Given the description of an element on the screen output the (x, y) to click on. 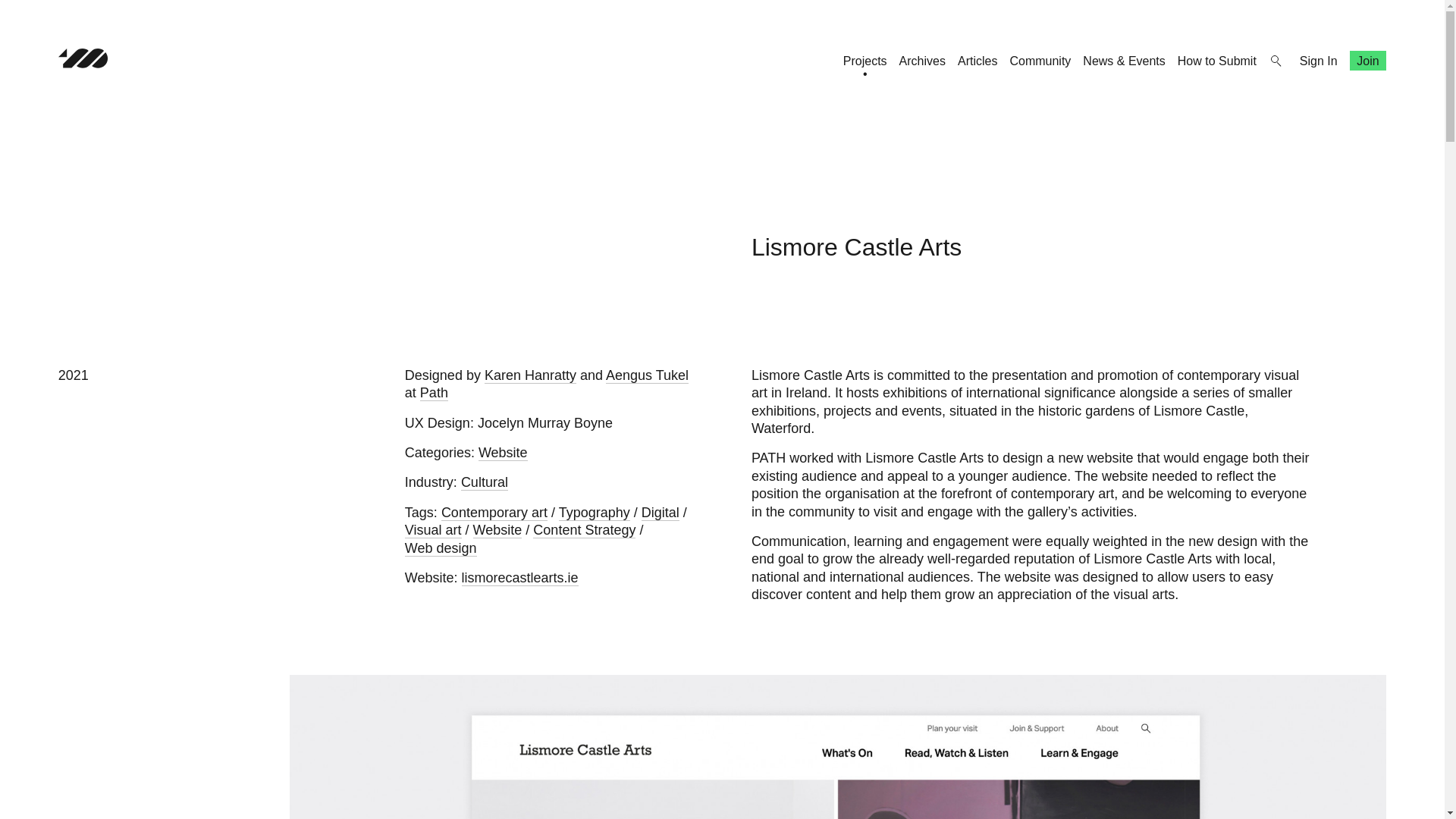
lismorecastlearts.ie (519, 578)
Digital (660, 512)
Website (503, 453)
Path (434, 392)
Community (1039, 60)
Cultural (484, 482)
Articles (977, 60)
Karen Hanratty (530, 375)
Web design (440, 548)
Website (497, 530)
